Given the description of an element on the screen output the (x, y) to click on. 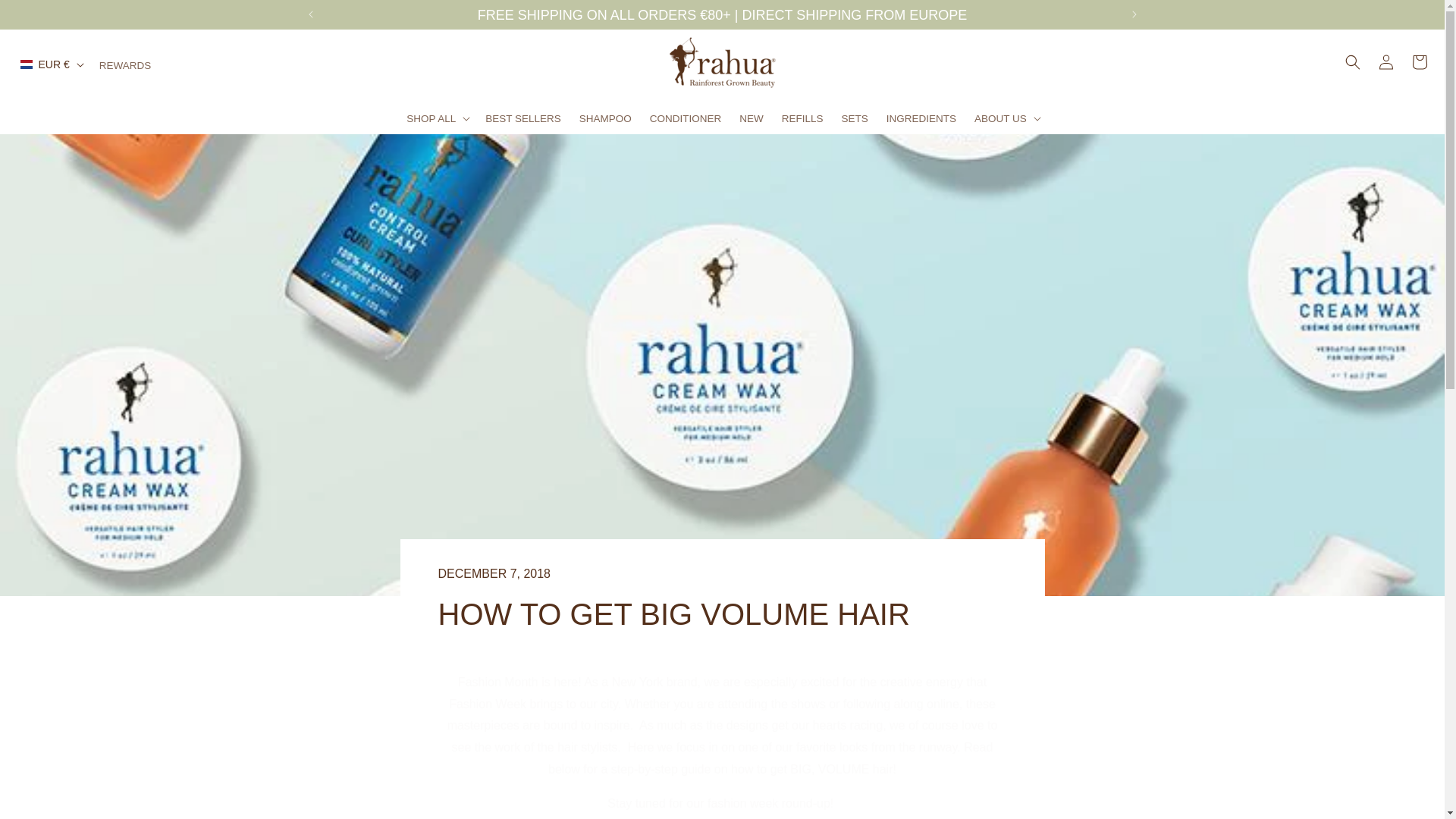
Skip to content (722, 601)
